Given the description of an element on the screen output the (x, y) to click on. 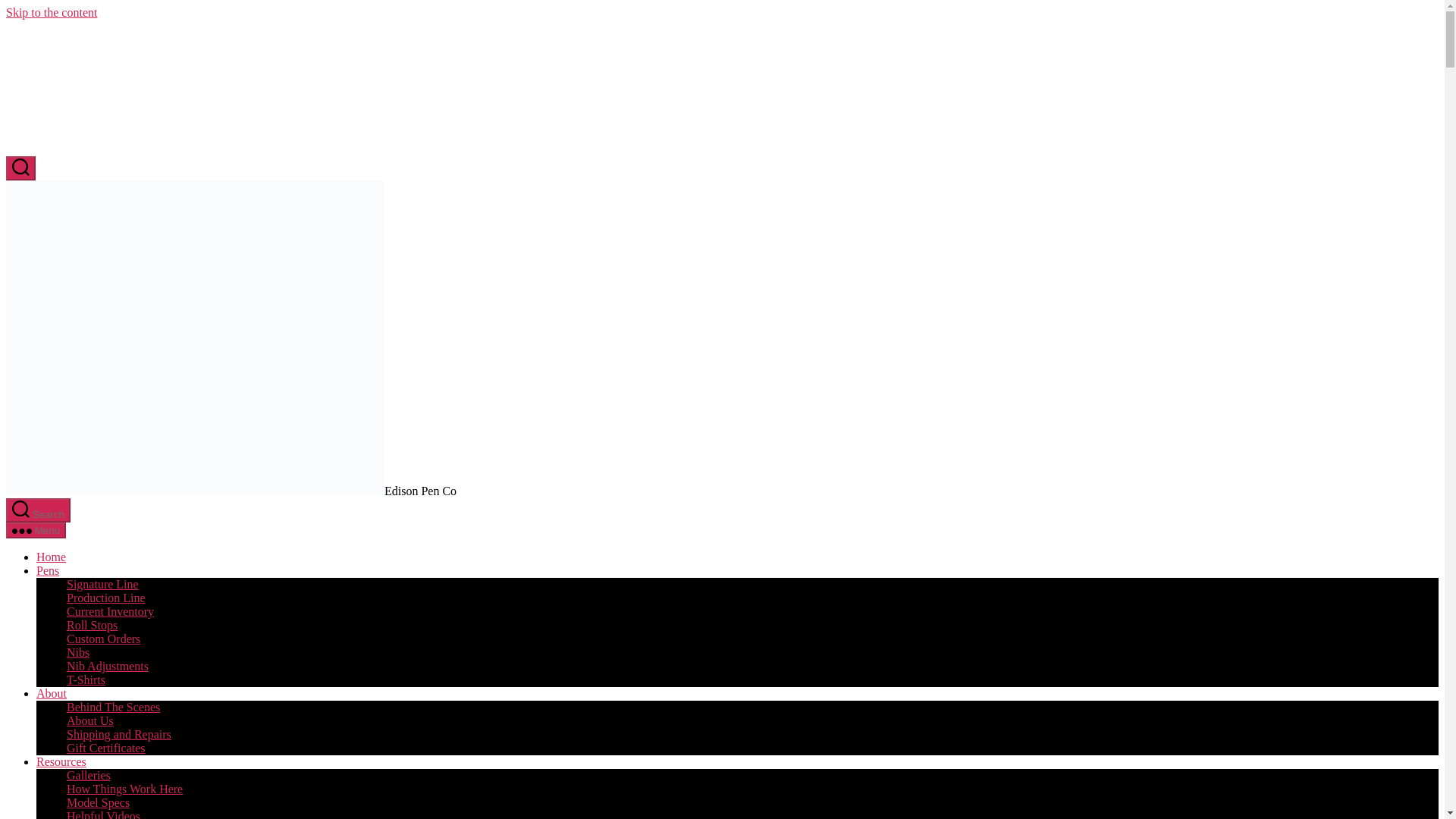
Shipping and Repairs (118, 734)
Home (50, 556)
Galleries (88, 775)
T-Shirts (85, 679)
Pens (47, 570)
Nibs (77, 652)
Gift Certificates (105, 748)
About (51, 693)
Helpful Videos (102, 814)
Roll Stops (91, 625)
Nib Adjustments (107, 666)
Model Specs (97, 802)
Production Line (105, 597)
Skip to the content (51, 11)
Menu (35, 530)
